Given the description of an element on the screen output the (x, y) to click on. 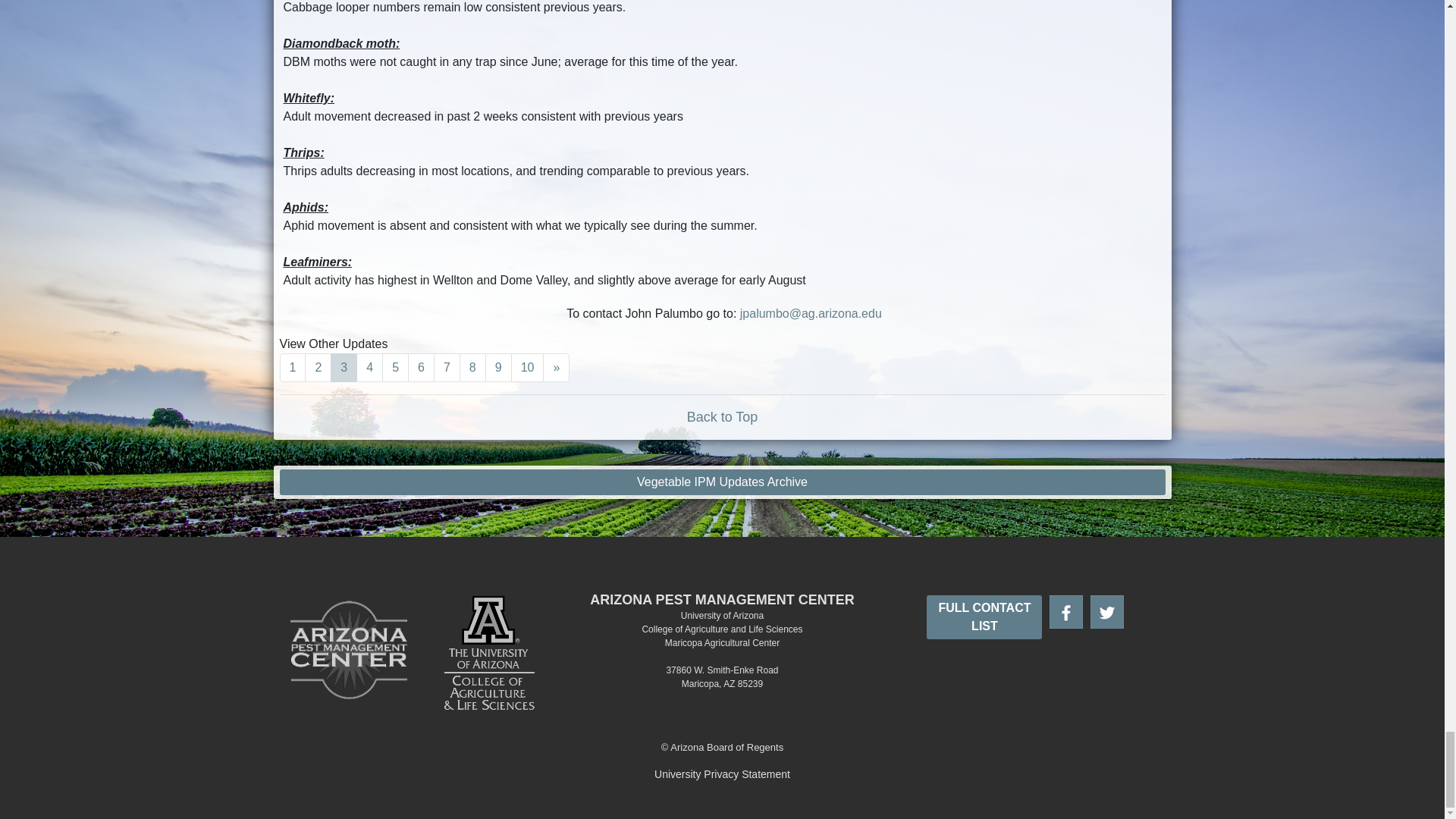
facebook (1066, 611)
APMC Logo BW Inverted (348, 650)
twitter (1107, 611)
CALS Logo Black and white Inverted (488, 651)
